Given the description of an element on the screen output the (x, y) to click on. 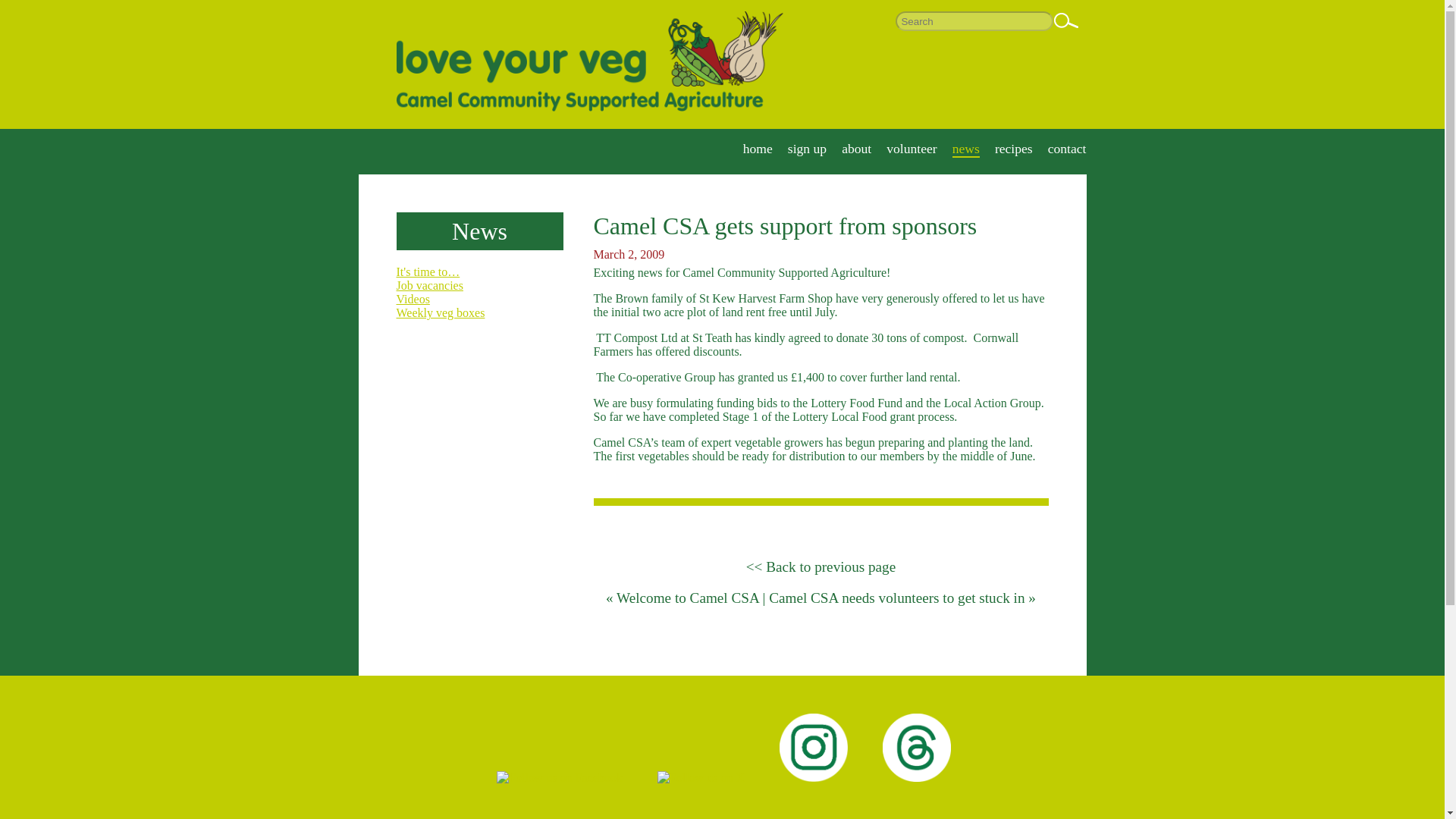
about (855, 148)
sign up (807, 148)
Videos (412, 298)
Camel CSA needs volunteers to get stuck in (896, 597)
recipes (1013, 148)
volunteer (911, 148)
Welcome to Camel CSA (686, 597)
News (478, 230)
home (757, 148)
Job vacancies (429, 285)
news (965, 149)
contact (1067, 148)
Weekly veg boxes (440, 312)
